Given the description of an element on the screen output the (x, y) to click on. 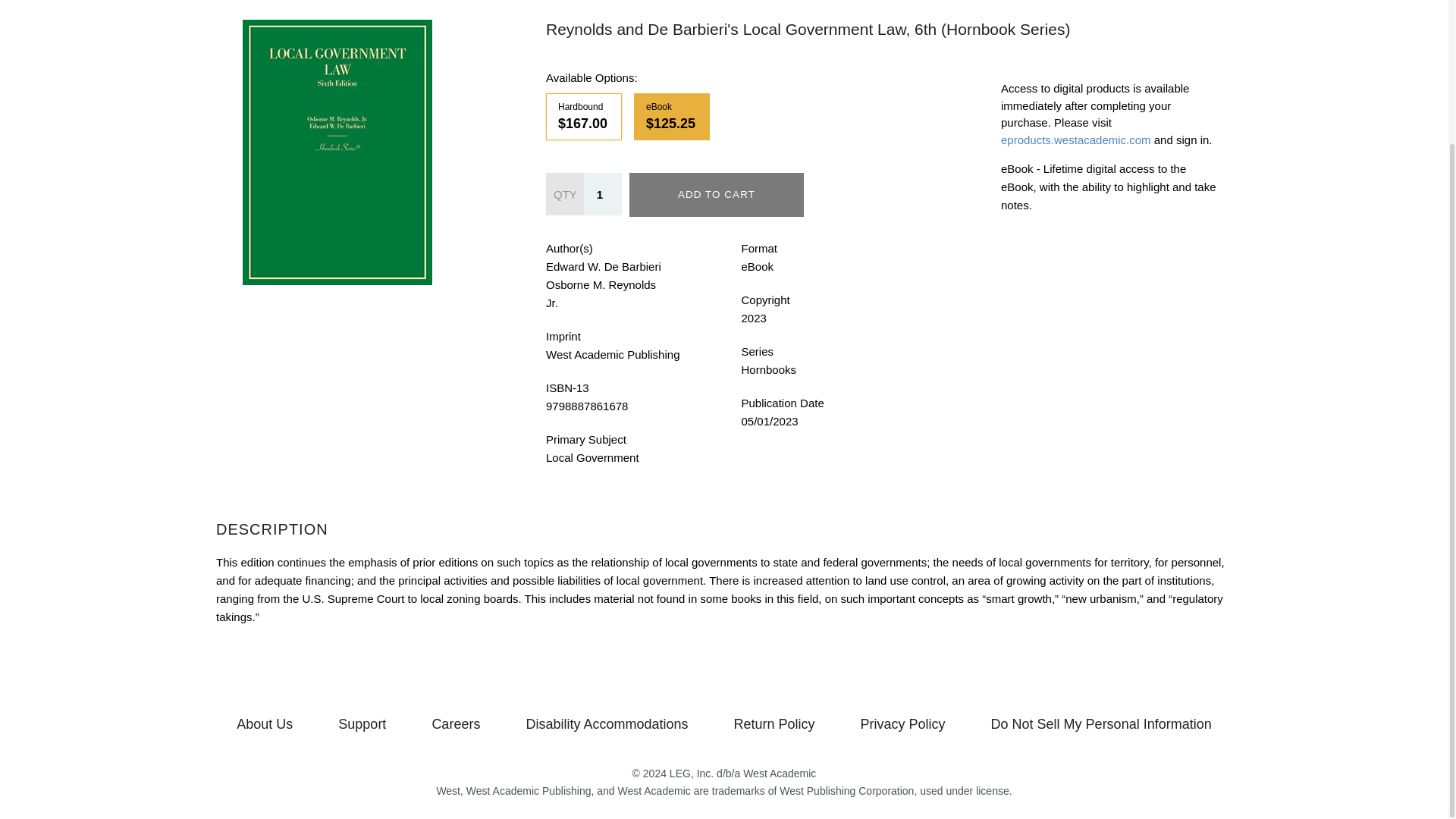
Privacy Policy (903, 723)
1 (602, 193)
About Us (263, 723)
Disability Accommodations (606, 723)
Support (361, 723)
eproducts.westacademic.com (1076, 139)
Do Not Sell My Personal Information (1102, 723)
Return Policy (774, 723)
ADD TO CART (715, 194)
Careers (455, 723)
